Given the description of an element on the screen output the (x, y) to click on. 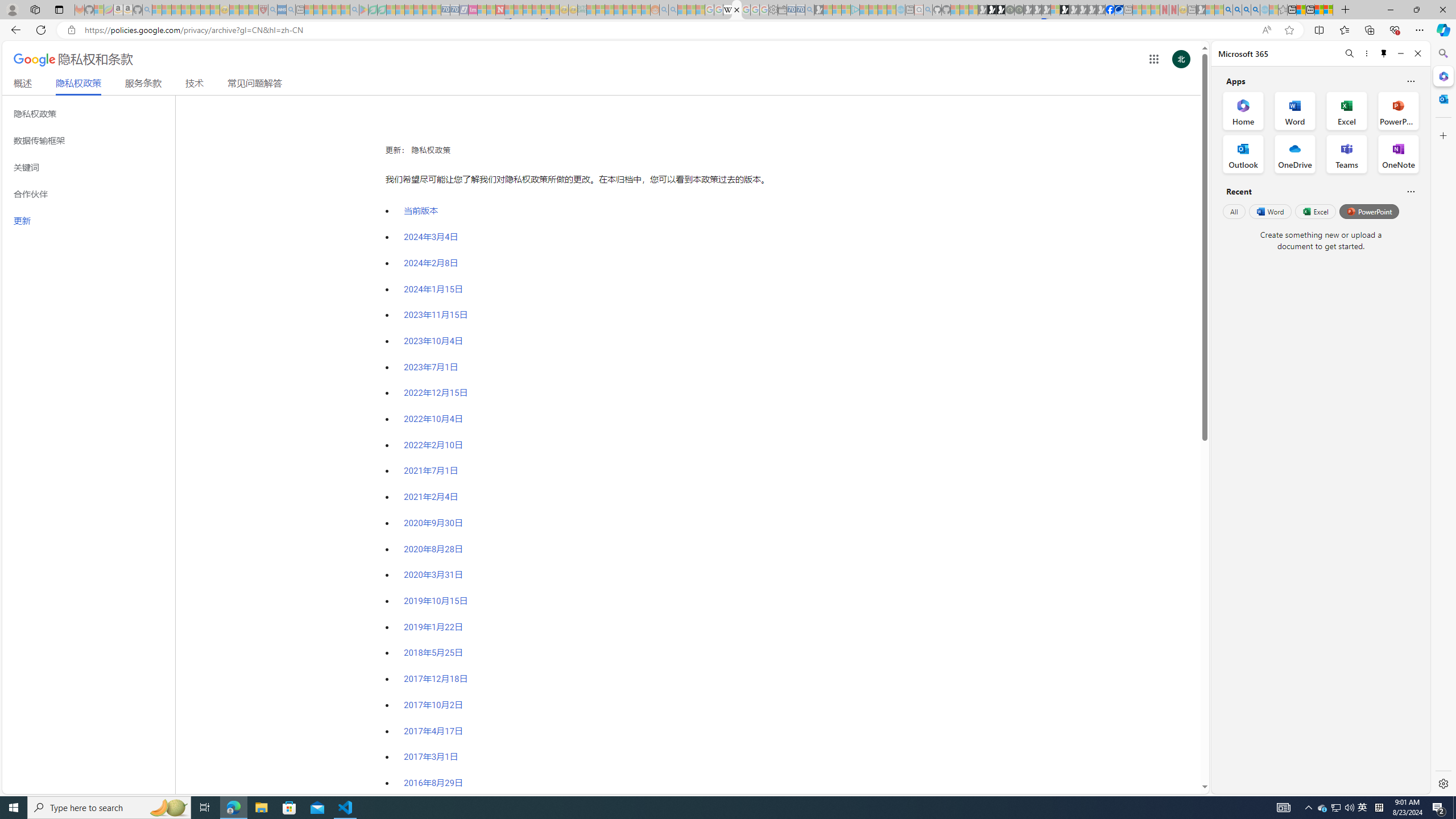
Word Office App (1295, 110)
Kinda Frugal - MSN - Sleeping (627, 9)
Local - MSN - Sleeping (253, 9)
PowerPoint (1369, 210)
Google Chrome Internet Browser Download - Search Images (1255, 9)
Recipes - MSN - Sleeping (234, 9)
Home | Sky Blue Bikes - Sky Blue Bikes - Sleeping (900, 9)
PowerPoint Office App (1398, 110)
OneNote Office App (1398, 154)
